Given the description of an element on the screen output the (x, y) to click on. 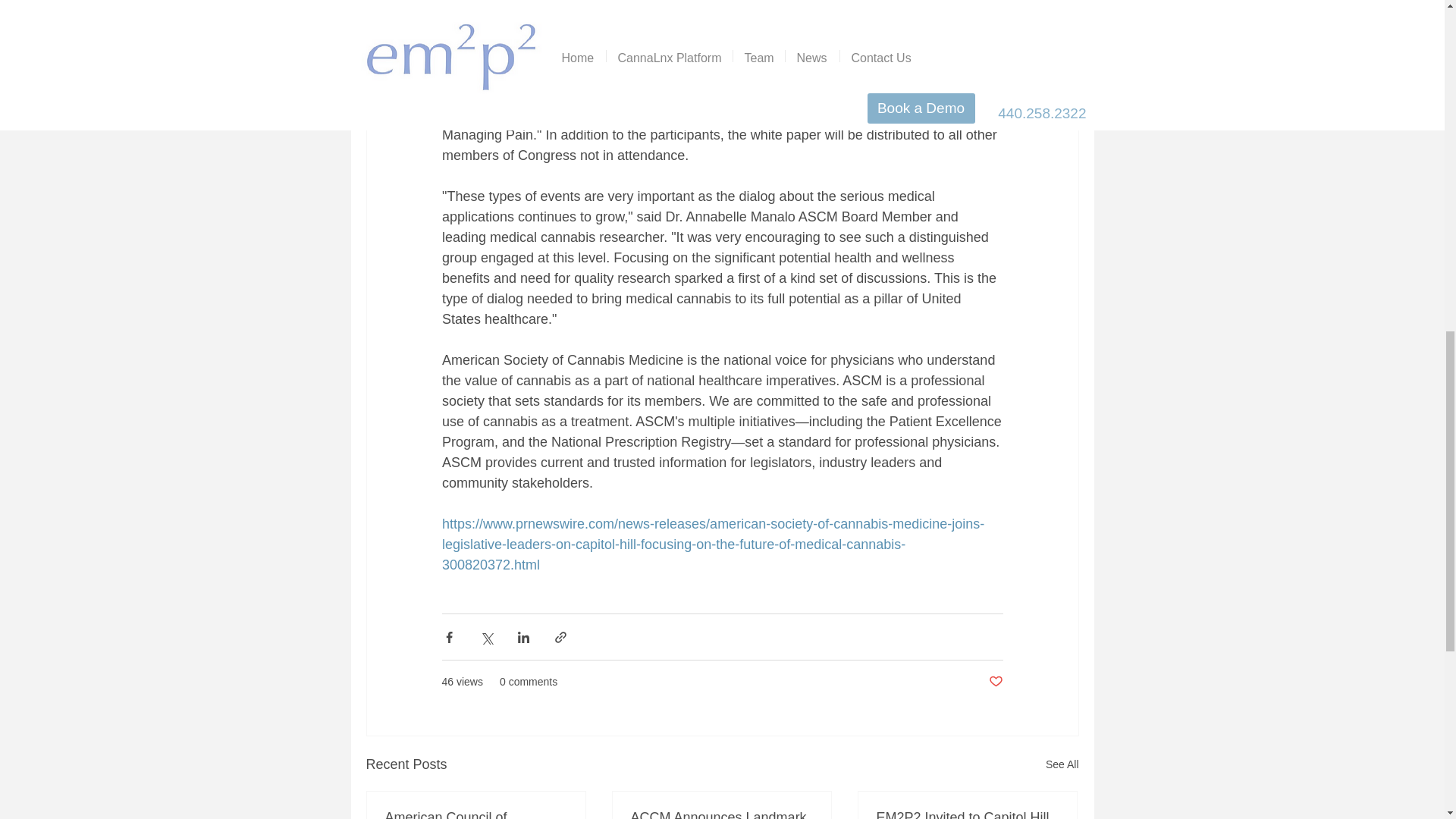
Post not marked as liked (995, 682)
See All (1061, 764)
